Given the description of an element on the screen output the (x, y) to click on. 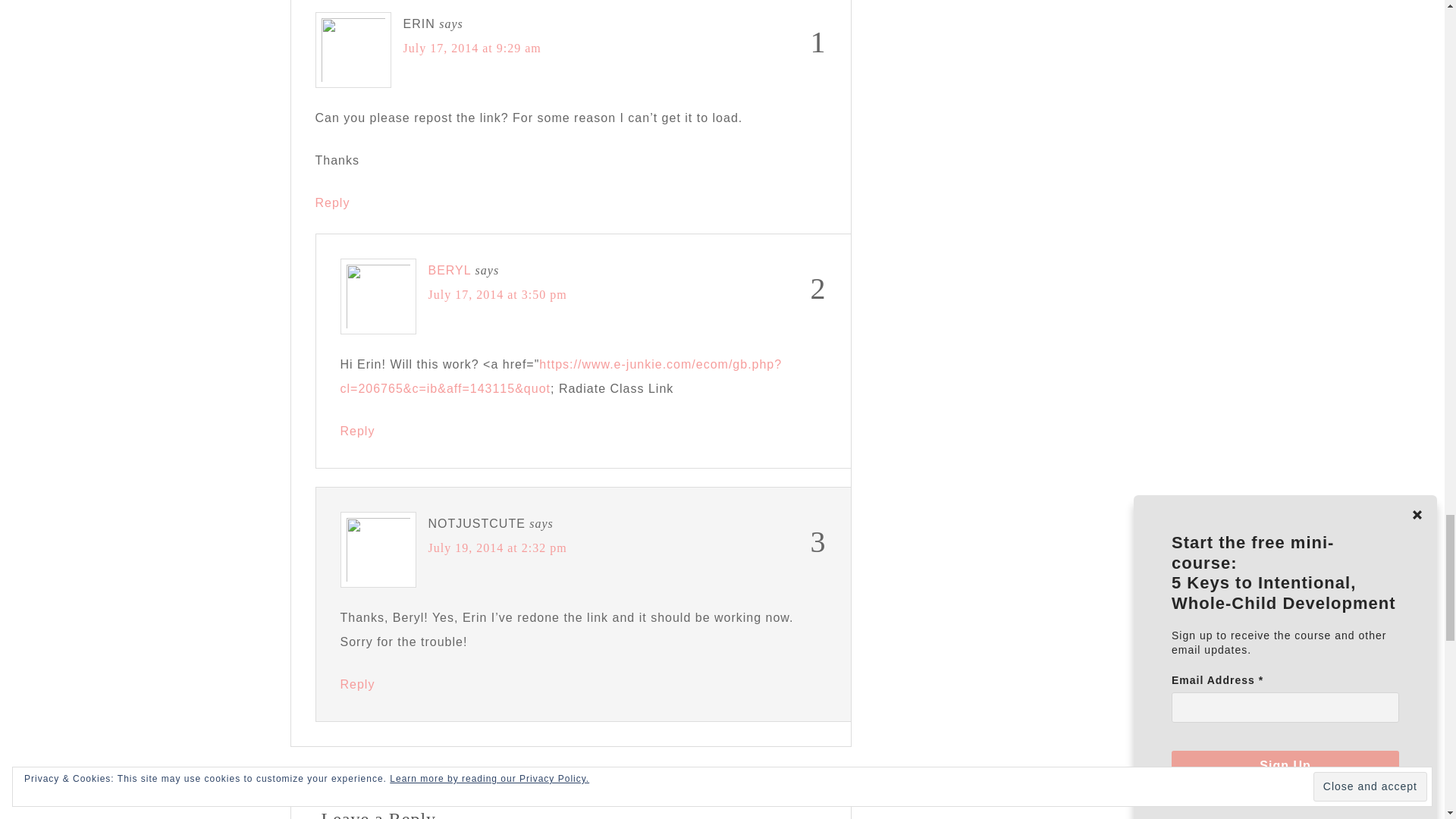
July 17, 2014 at 3:50 pm (497, 294)
Reply (356, 684)
Reply (332, 202)
July 17, 2014 at 9:29 am (472, 47)
BERYL (449, 269)
July 19, 2014 at 2:32 pm (497, 547)
Reply (356, 431)
